Given the description of an element on the screen output the (x, y) to click on. 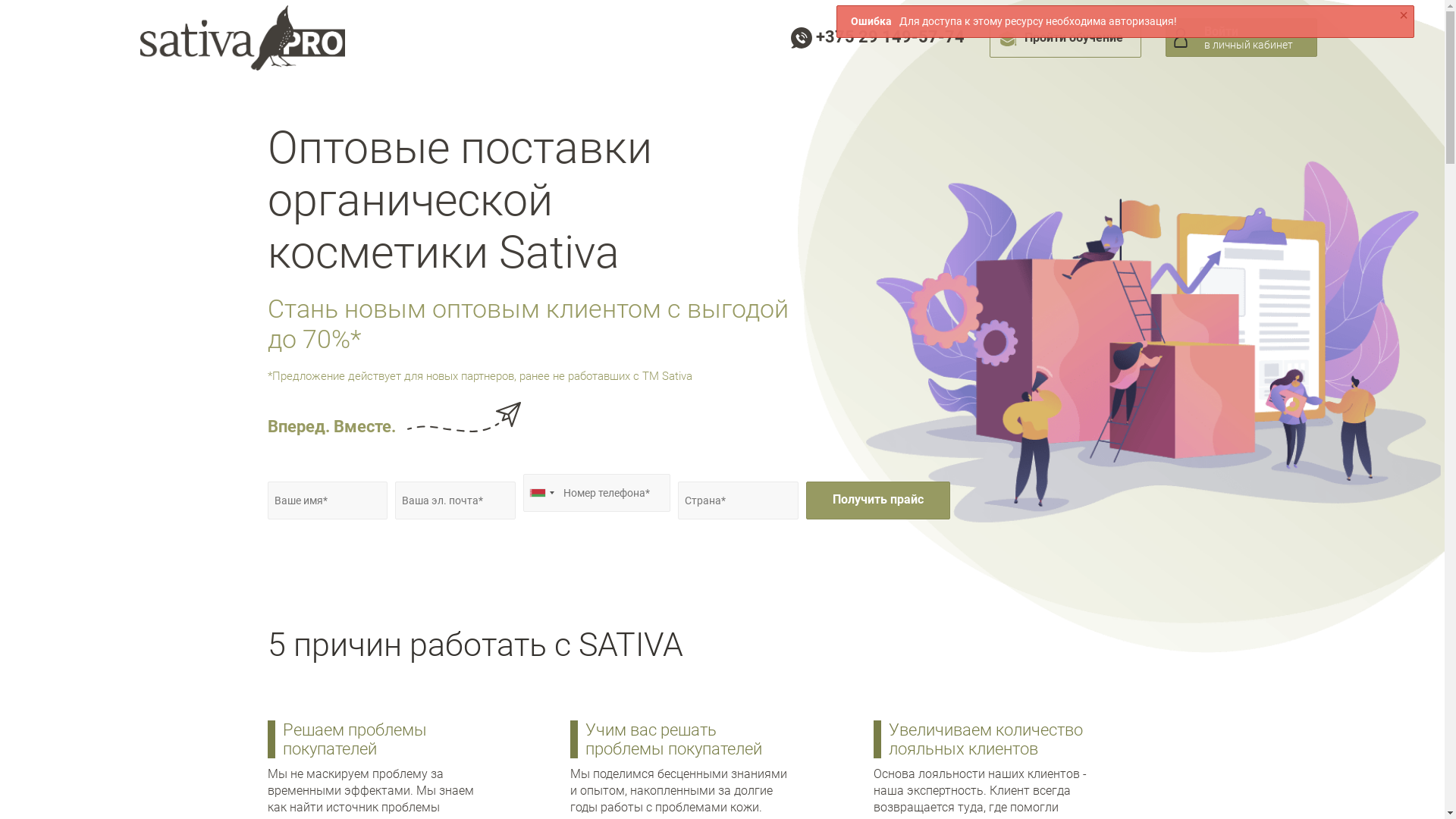
+375 29 149-57-74 Element type: text (876, 36)
